Given the description of an element on the screen output the (x, y) to click on. 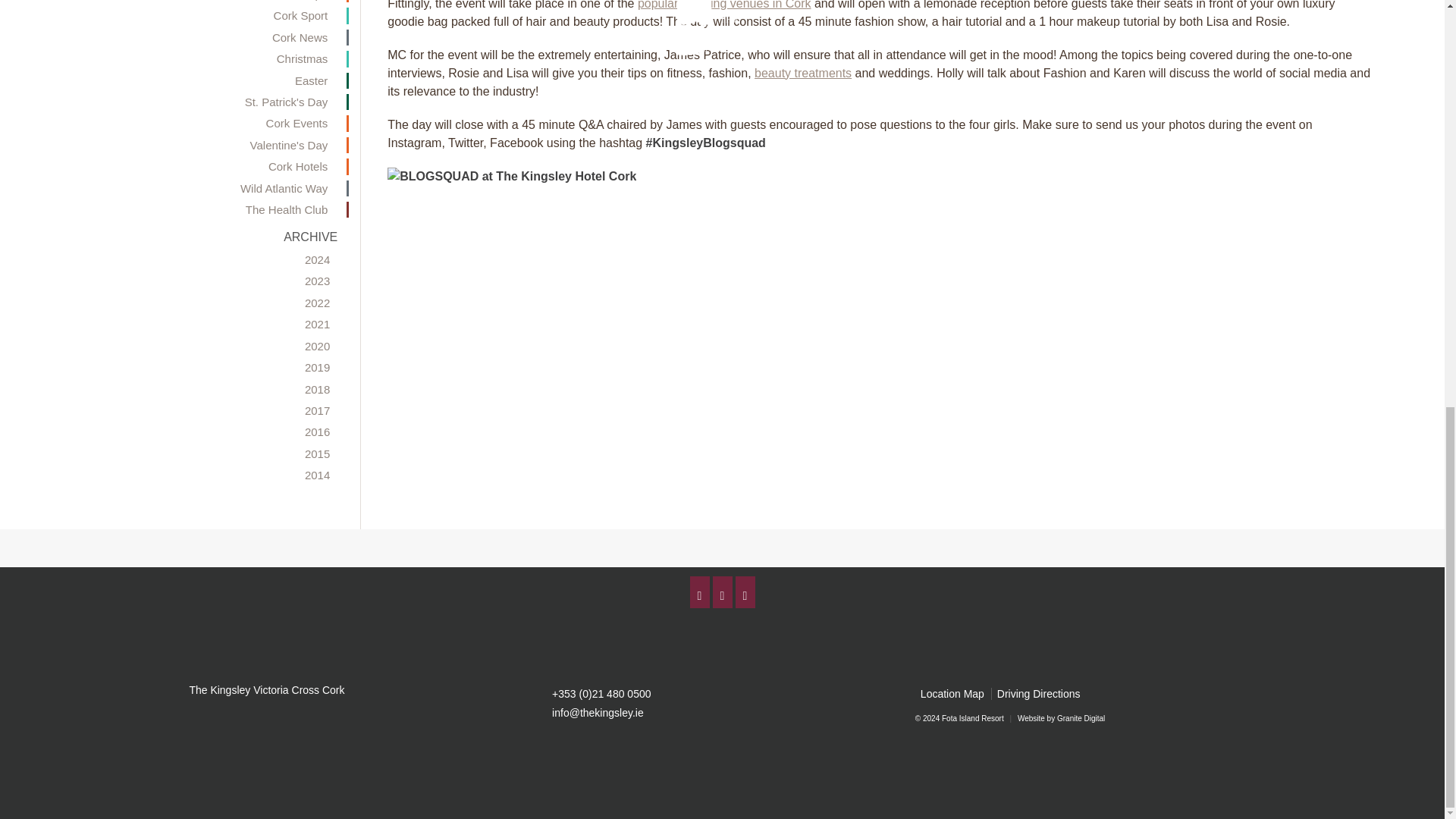
Cork Events (178, 123)
Easter (178, 80)
Christmas (178, 58)
Wild Atlantic Way (178, 188)
Cork News (178, 37)
The Health Club (178, 209)
Valentine's Day (178, 145)
Cork Hotels (178, 166)
St. Patrick's Day (178, 101)
Cork Sport (178, 15)
